Given the description of an element on the screen output the (x, y) to click on. 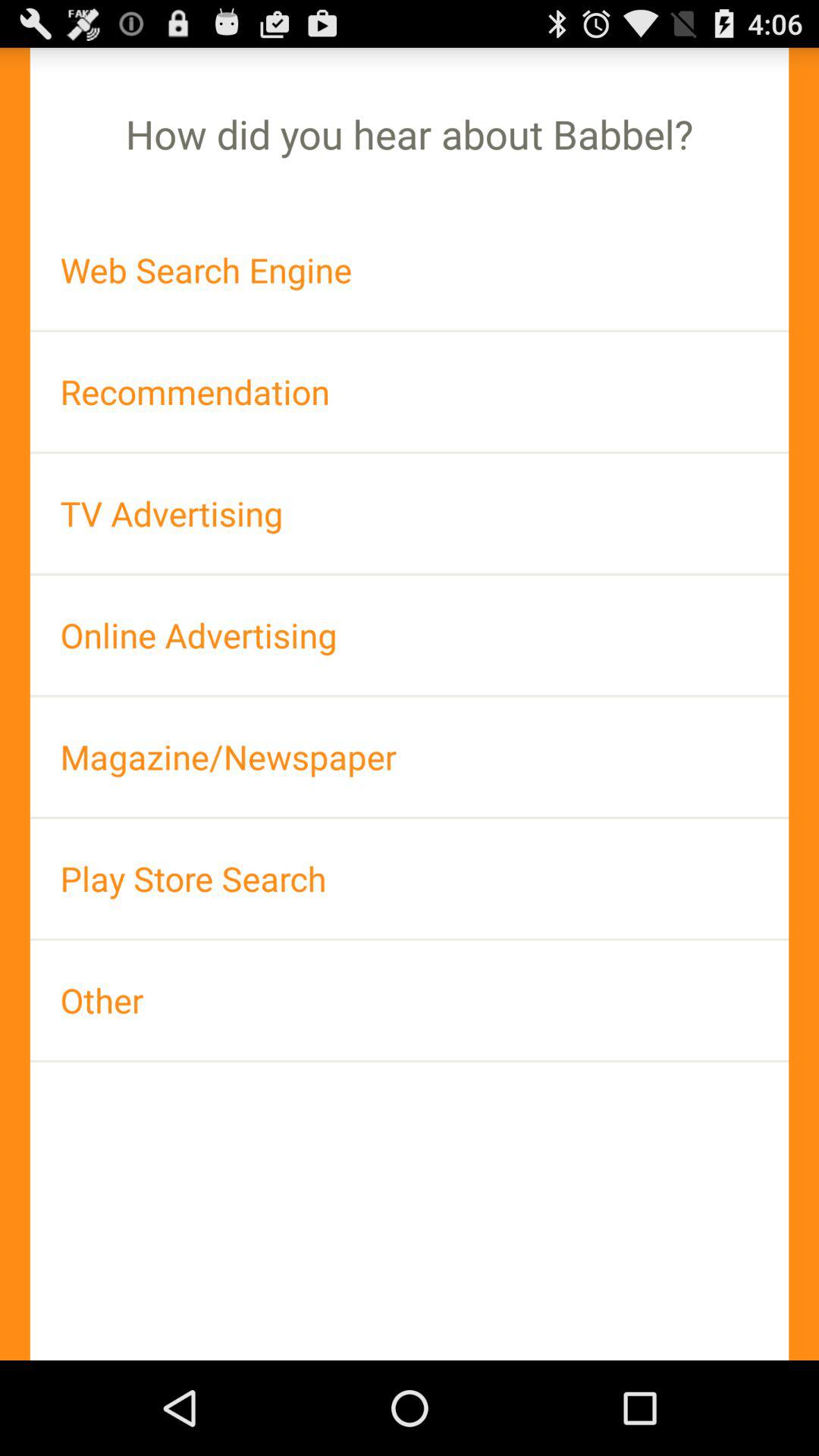
click icon below the online advertising item (409, 756)
